Given the description of an element on the screen output the (x, y) to click on. 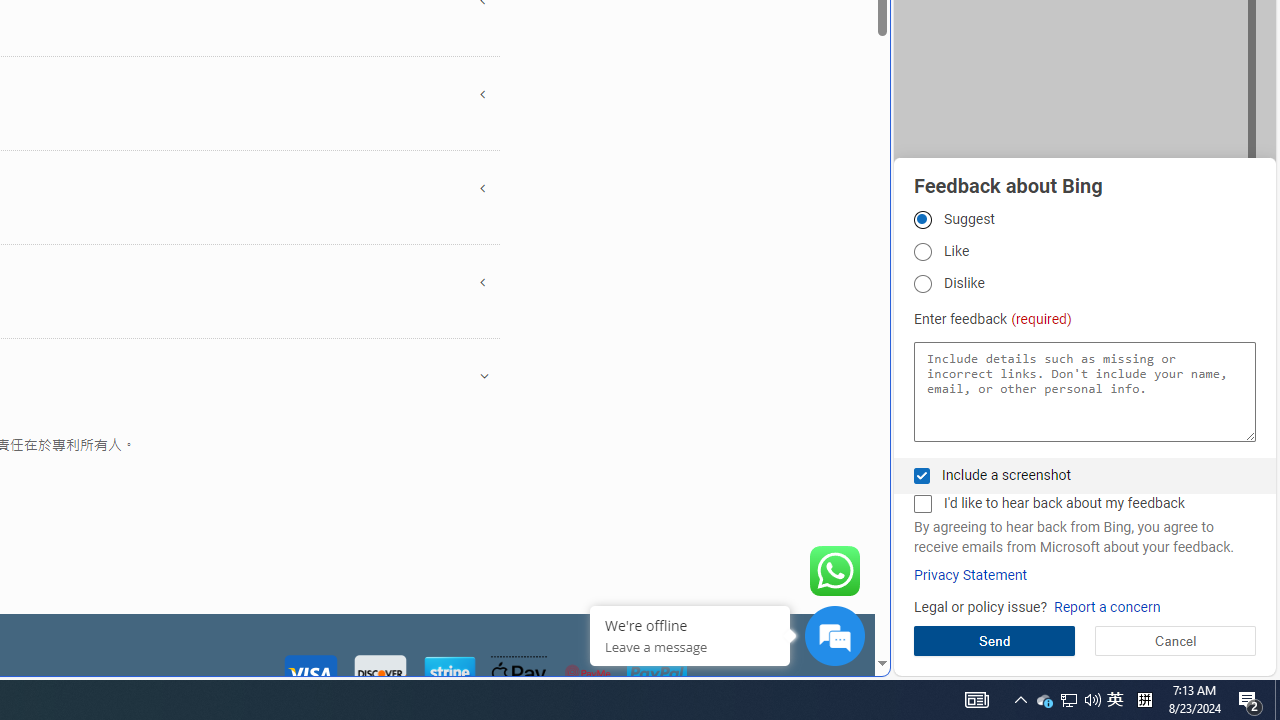
Send (994, 640)
Include a screenshot (921, 475)
Report a concern (1106, 607)
Suggest (922, 219)
I'd like to hear back about my feedback (922, 503)
Privacy Statement (970, 575)
Cancel (1174, 640)
